Given the description of an element on the screen output the (x, y) to click on. 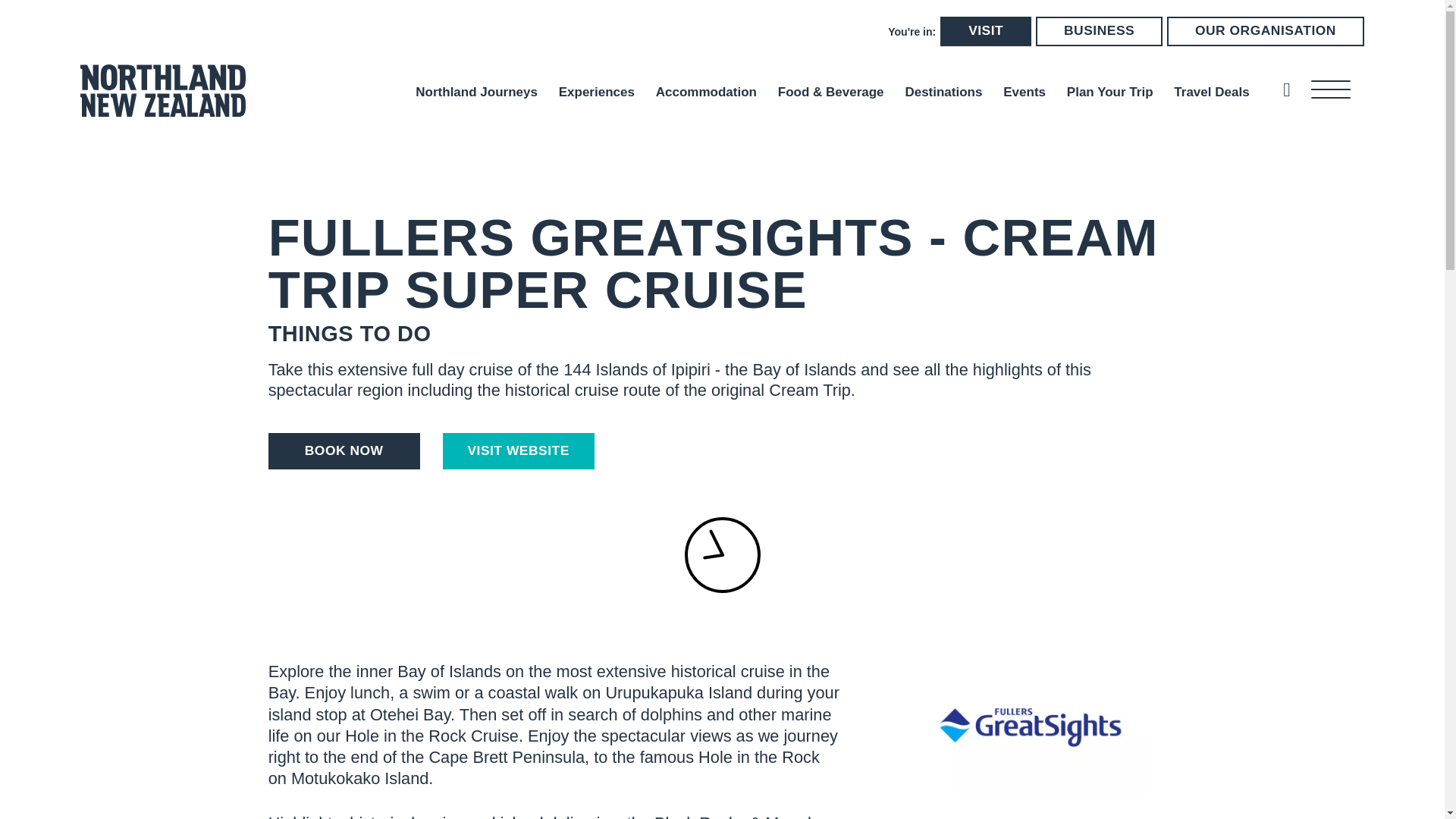
VISIT (985, 30)
OUR ORGANISATION (1265, 30)
Northland Journeys (475, 92)
BUSINESS (1098, 30)
Experiences (596, 92)
Accommodation (706, 92)
